Given the description of an element on the screen output the (x, y) to click on. 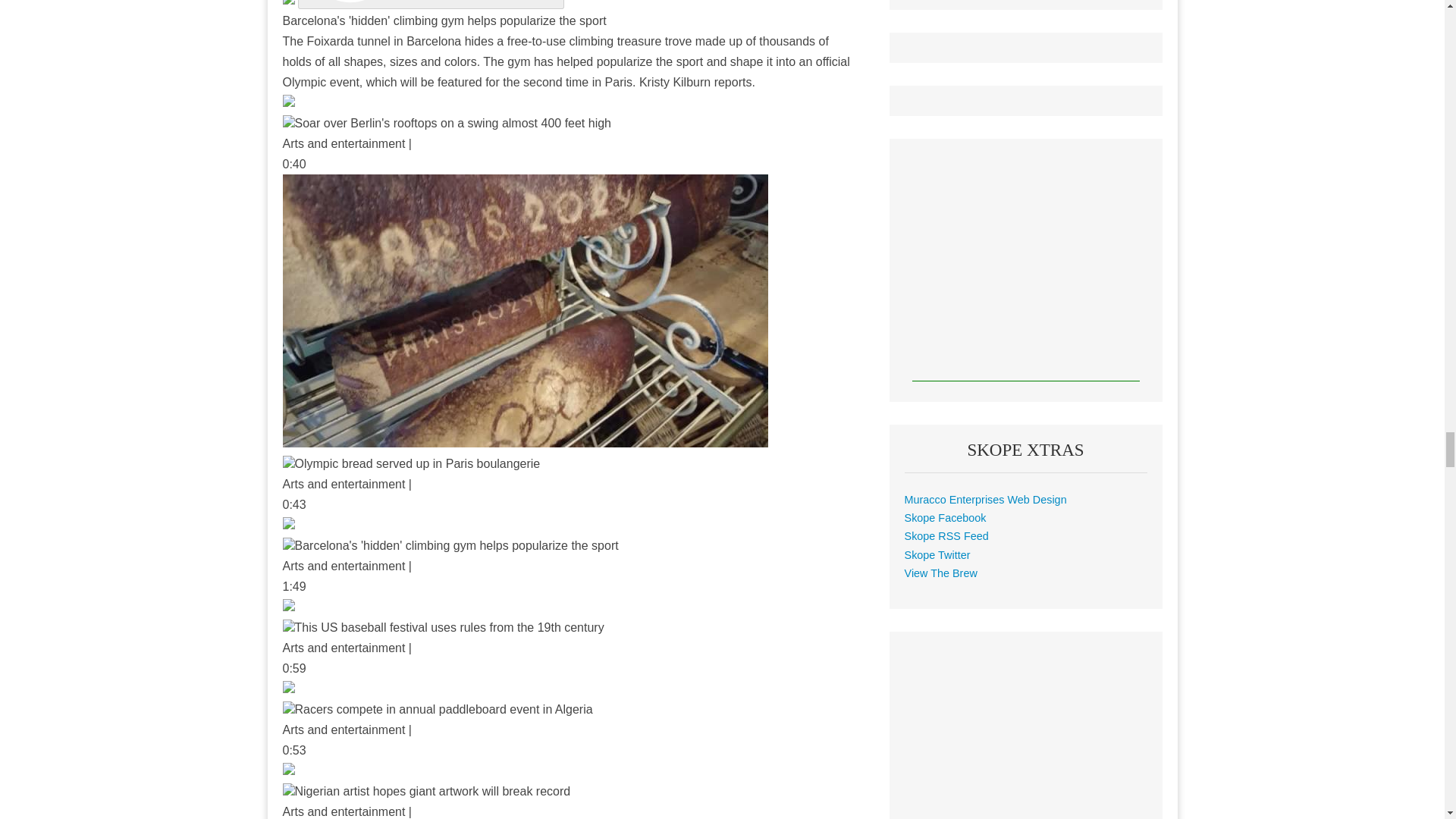
Skopemag.com RSS Feed (946, 535)
